Given the description of an element on the screen output the (x, y) to click on. 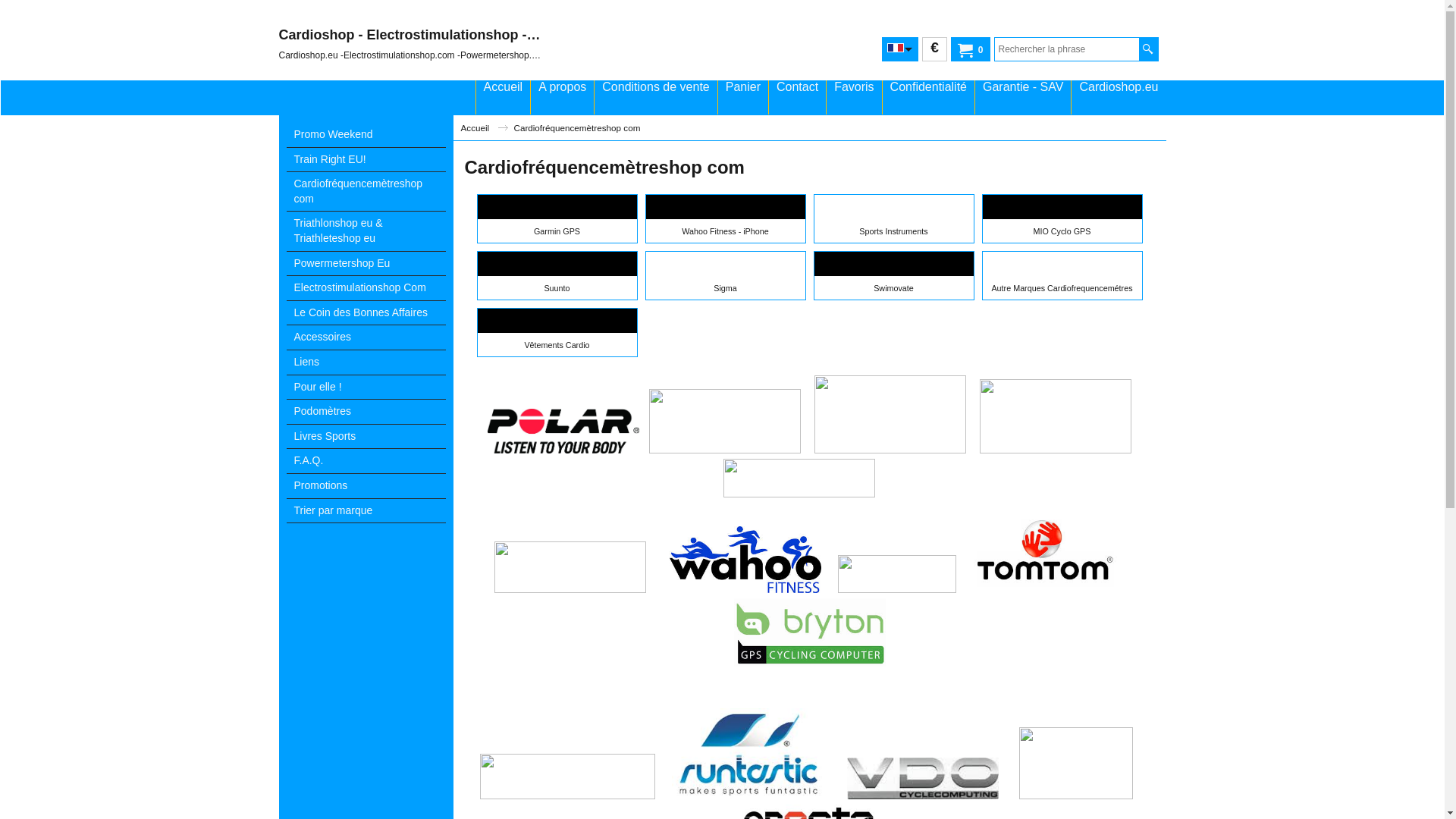
Garantie - SAV Element type: text (1022, 97)
Swimovate Element type: text (892, 275)
Sports Instruments Element type: text (892, 218)
Recherche Element type: hover (1148, 48)
Accueil Element type: text (503, 97)
Accueil Element type: text (484, 127)
Panier Element type: text (743, 97)
Promo Weekend Element type: text (365, 134)
Trier par marque Element type: text (365, 511)
Suunto Element type: text (556, 275)
Triathlonshop eu & Triathleteshop eu Element type: text (365, 231)
Contact Element type: text (796, 97)
Electrostimulationshop Com Element type: text (365, 288)
Train Right EU! Element type: text (365, 159)
Sigma Element type: text (724, 275)
Wahoo Fitness - iPhone Element type: text (724, 218)
Favoris Element type: text (853, 97)
A propos Element type: text (561, 97)
Liens Element type: text (365, 362)
Garmin GPS Element type: text (556, 218)
Pour elle ! Element type: text (365, 387)
Conditions de vente Element type: text (655, 97)
MIO Cyclo GPS Element type: text (1061, 218)
Le Coin des Bonnes Affaires Element type: text (365, 313)
F.A.Q. Element type: text (365, 460)
Promotions Element type: text (365, 485)
Powermetershop Eu Element type: text (365, 263)
Livres Sports Element type: text (365, 436)
Accessoires Element type: text (365, 337)
Cardioshop.eu Element type: text (1118, 97)
